Given the description of an element on the screen output the (x, y) to click on. 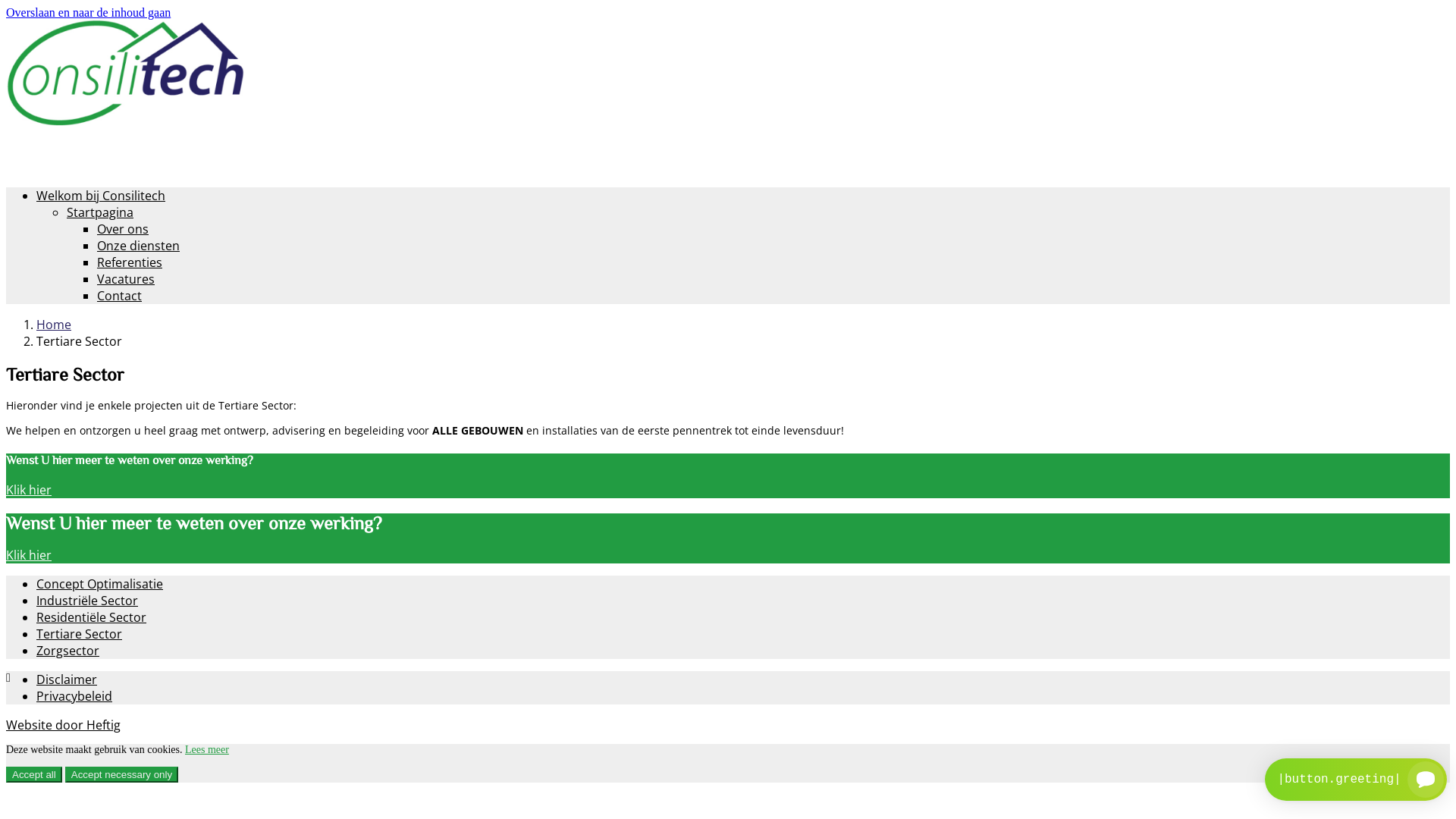
Smartsupp widget button Element type: hover (1355, 779)
Privacybeleid Element type: text (74, 695)
Over ons Element type: text (122, 228)
Vacatures Element type: text (125, 278)
Zorgsector Element type: text (67, 650)
Accept all Element type: text (34, 774)
Welkom bij Consilitech Element type: text (100, 195)
Lees meer Element type: text (207, 749)
Overslaan en naar de inhoud gaan Element type: text (88, 12)
Home | Consilitech Element type: hover (125, 72)
Accept necessary only Element type: text (121, 774)
Startpagina Element type: text (99, 211)
Website door Heftig Element type: text (63, 724)
Home | Consilitech Element type: hover (125, 120)
Home Element type: text (53, 324)
Concept Optimalisatie Element type: text (99, 583)
Disclaimer Element type: text (66, 679)
Klik hier Element type: text (28, 489)
Onze diensten Element type: text (138, 245)
Klik hier Element type: text (28, 554)
Contact Element type: text (119, 295)
Tertiare Sector Element type: text (79, 633)
Referenties Element type: text (129, 262)
